Given the description of an element on the screen output the (x, y) to click on. 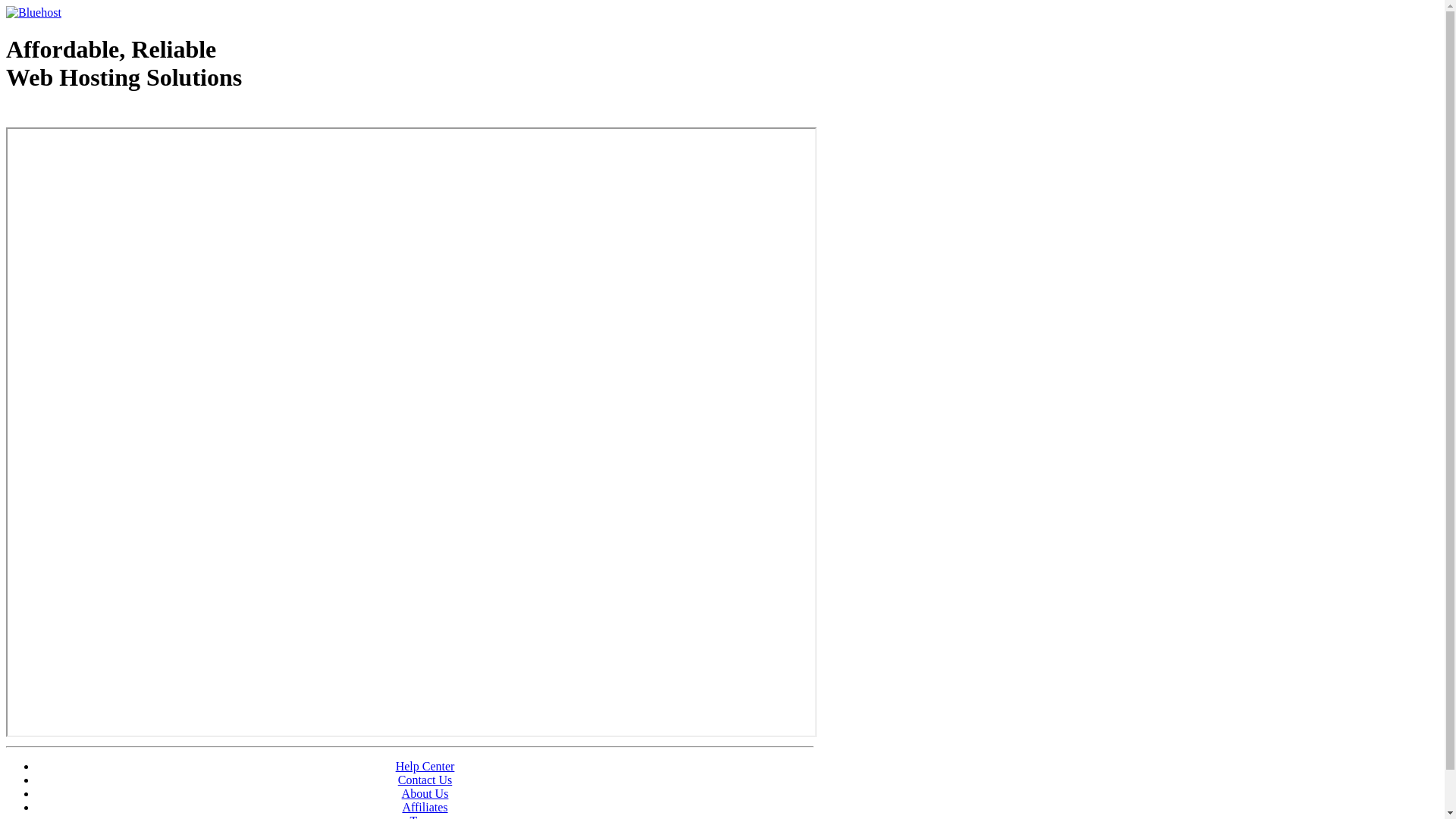
Affiliates Element type: text (424, 806)
About Us Element type: text (424, 793)
Help Center Element type: text (425, 765)
Web Hosting - courtesy of www.bluehost.com Element type: text (94, 115)
Contact Us Element type: text (425, 779)
